Given the description of an element on the screen output the (x, y) to click on. 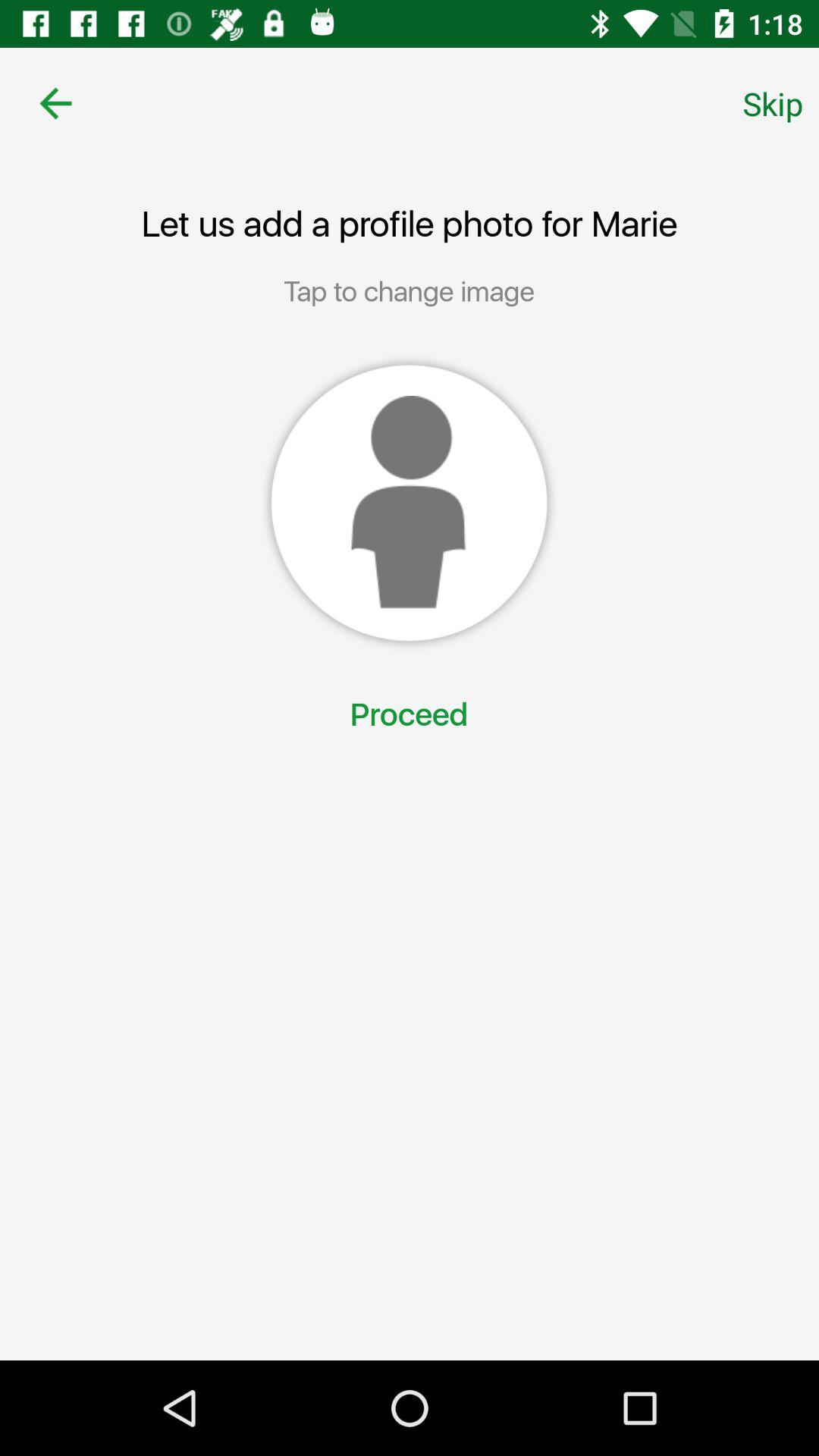
click item above the proceed (408, 502)
